Given the description of an element on the screen output the (x, y) to click on. 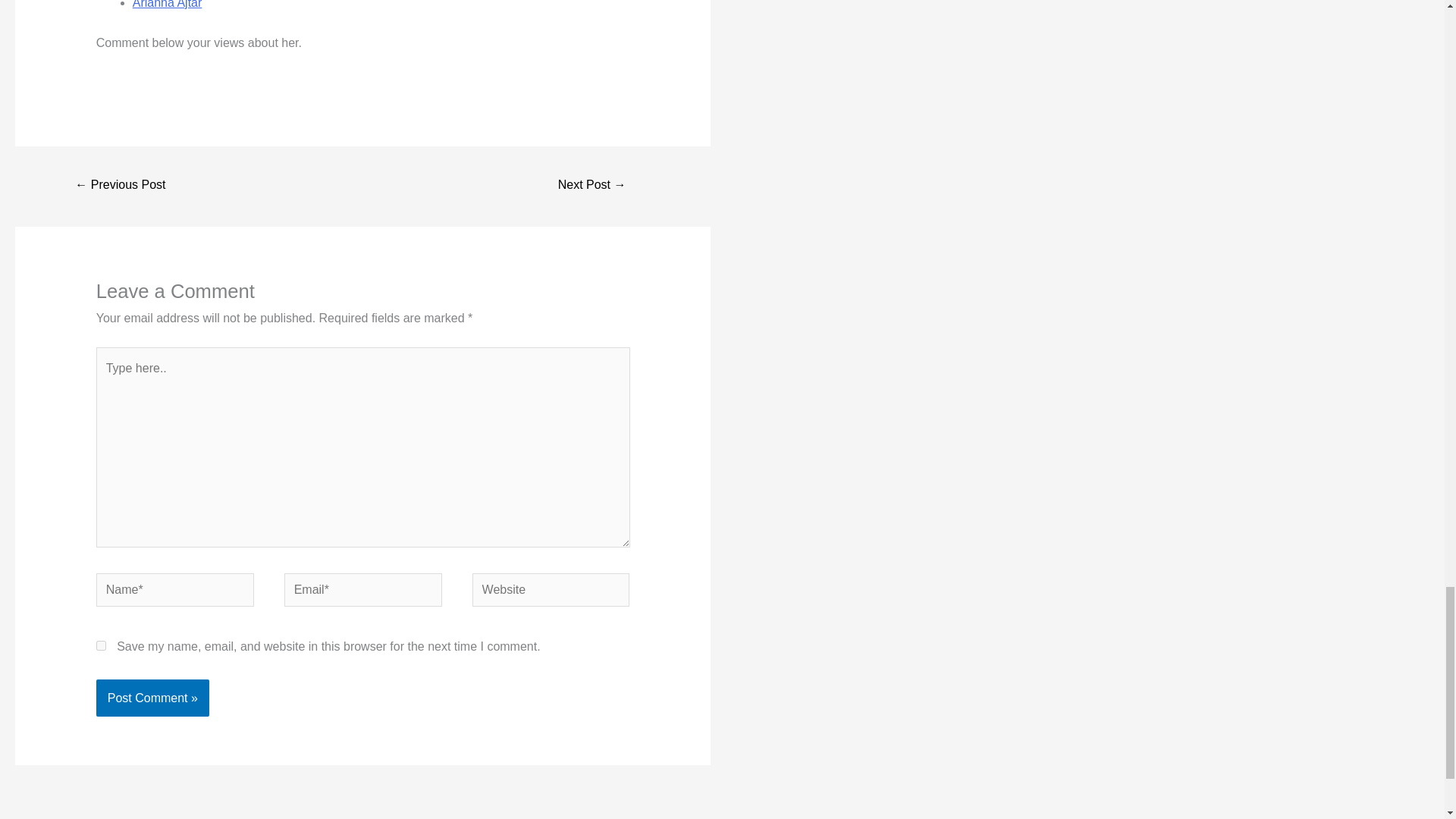
Arianna Ajtar (167, 4)
yes (101, 645)
